Given the description of an element on the screen output the (x, y) to click on. 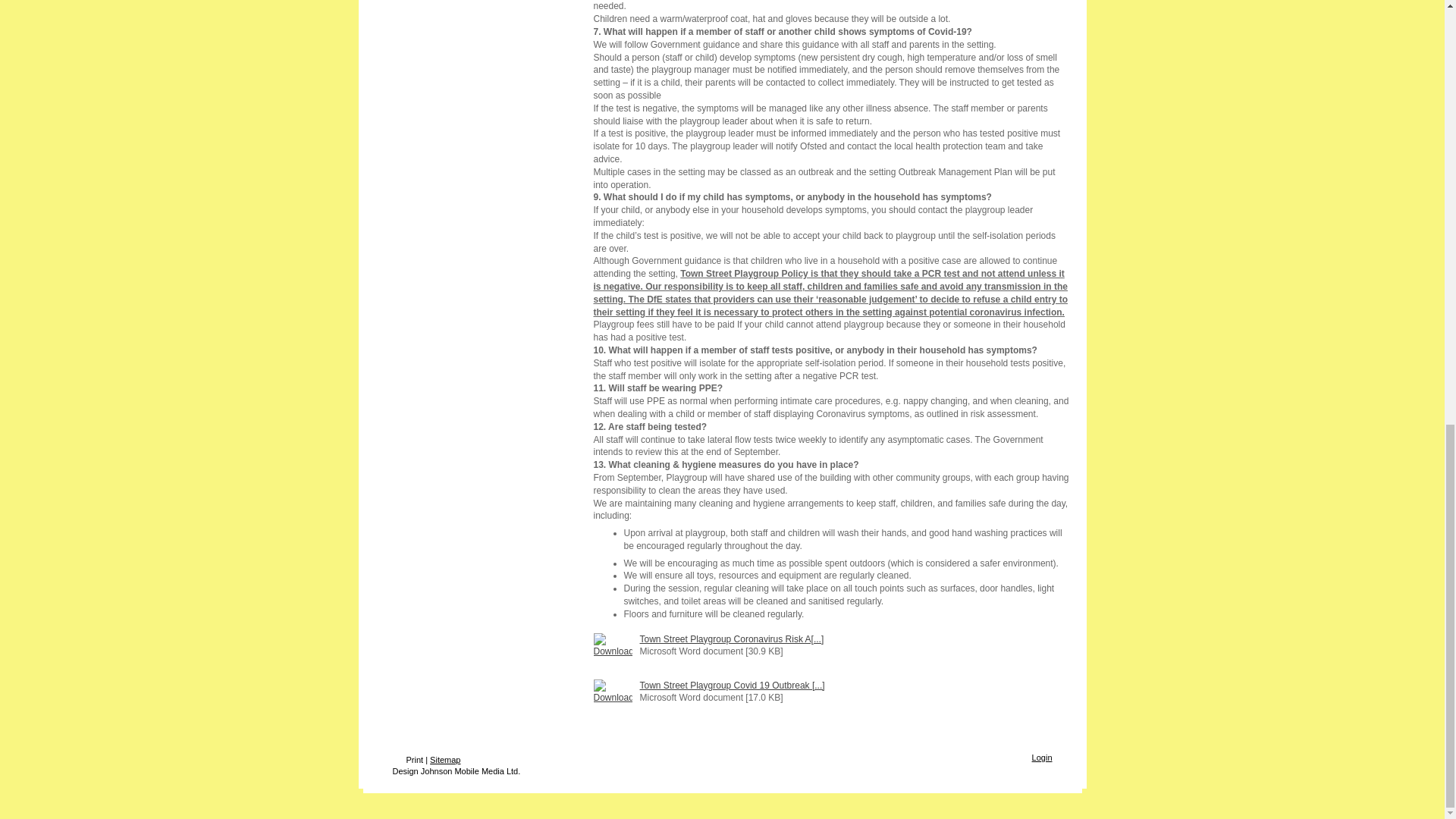
Login (1042, 757)
Sitemap (444, 759)
Print (408, 759)
